Given the description of an element on the screen output the (x, y) to click on. 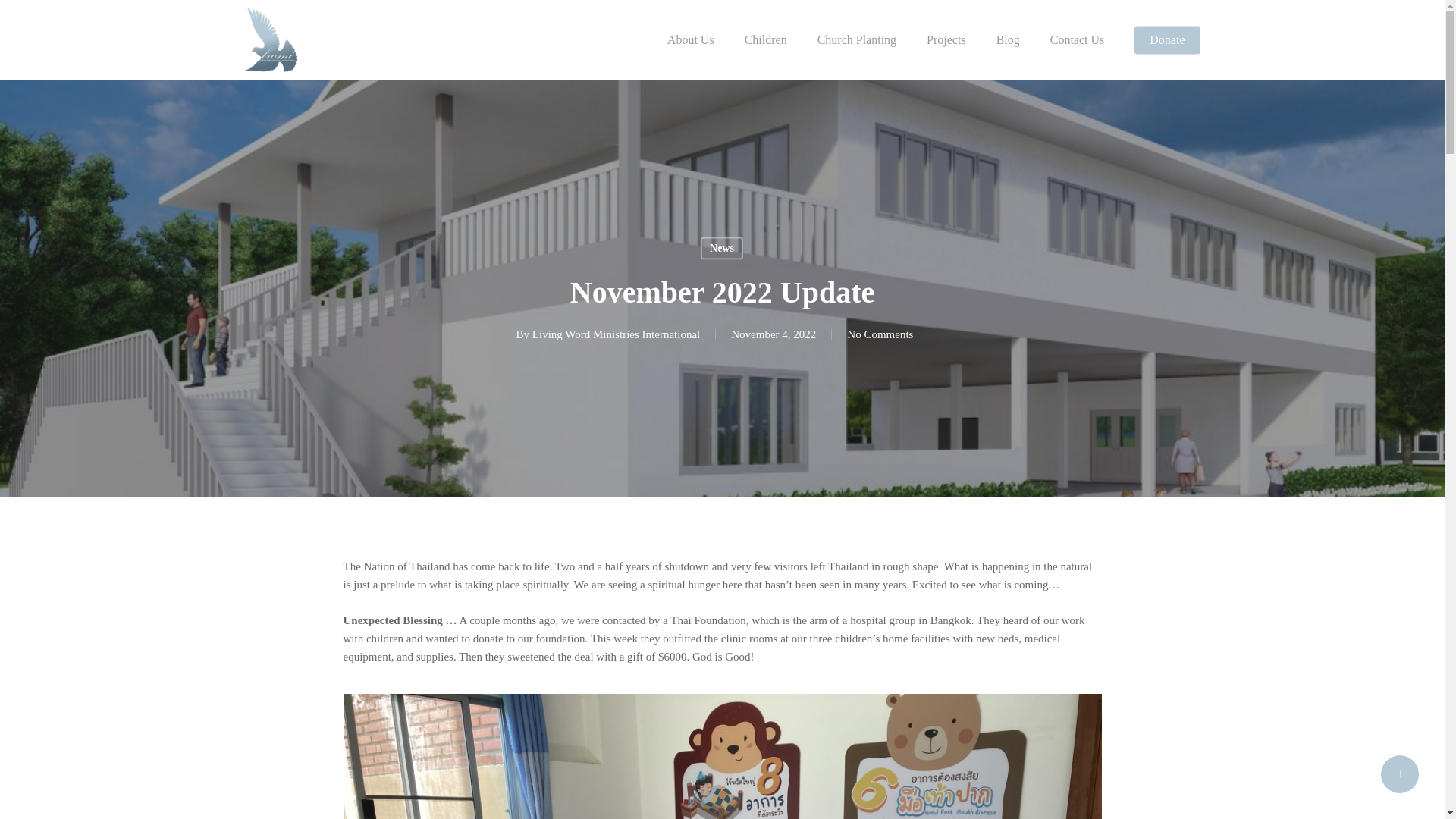
Posts by Living Word Ministries International (616, 333)
No Comments (879, 333)
Projects (946, 39)
Children (765, 39)
About Us (690, 39)
Blog (1007, 39)
Contact Us (1077, 39)
News (721, 247)
Donate (1166, 39)
Living Word Ministries International (616, 333)
